Given the description of an element on the screen output the (x, y) to click on. 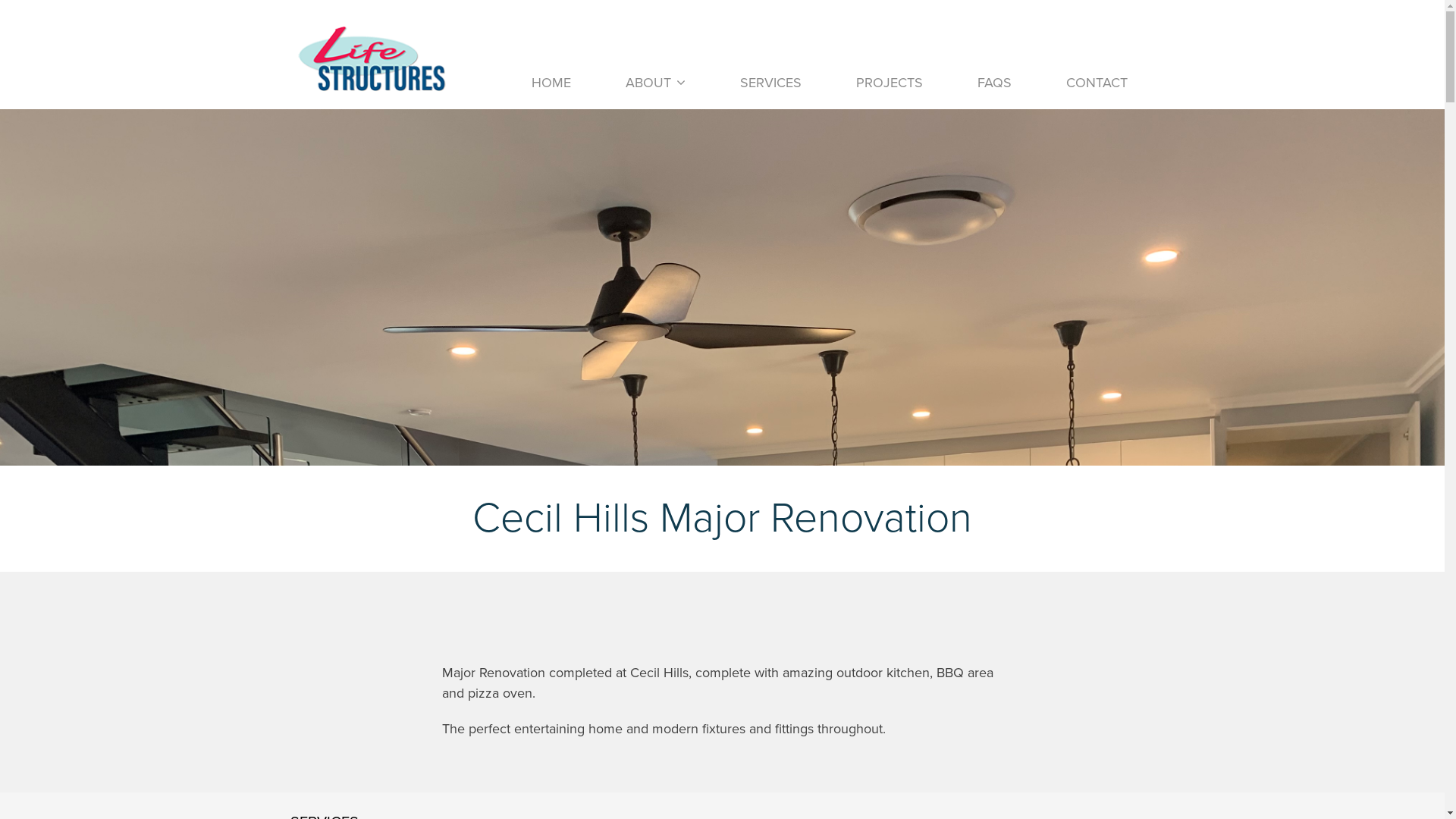
PROJECTS Element type: text (888, 82)
FAQS Element type: text (993, 82)
HOME Element type: text (550, 82)
SERVICES Element type: text (770, 82)
ABOUT Element type: text (647, 82)
CONTACT Element type: text (1096, 82)
